Given the description of an element on the screen output the (x, y) to click on. 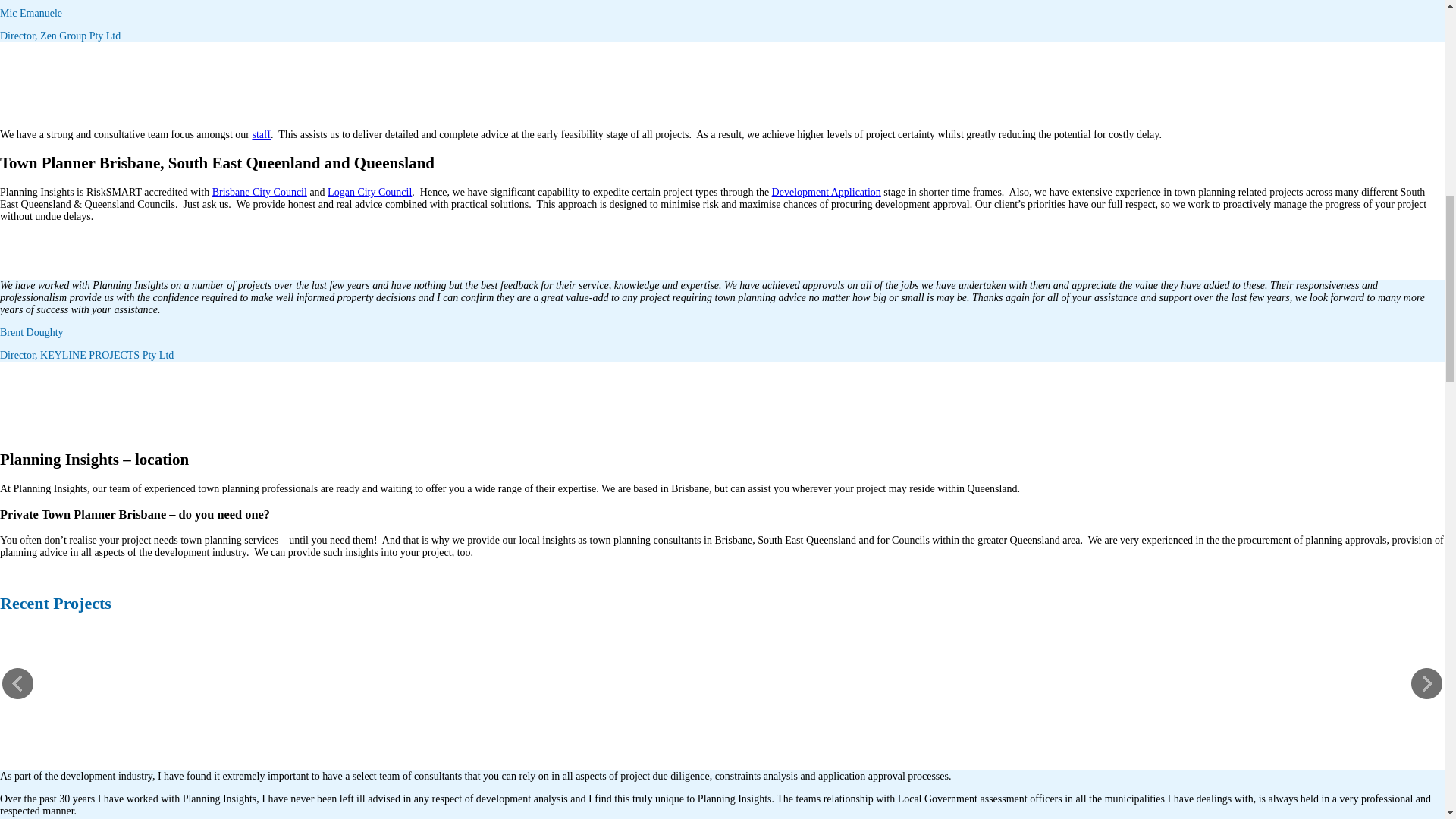
Logan City Council (369, 192)
Development Application (825, 192)
Brisbane City Council (259, 192)
staff (260, 134)
